Given the description of an element on the screen output the (x, y) to click on. 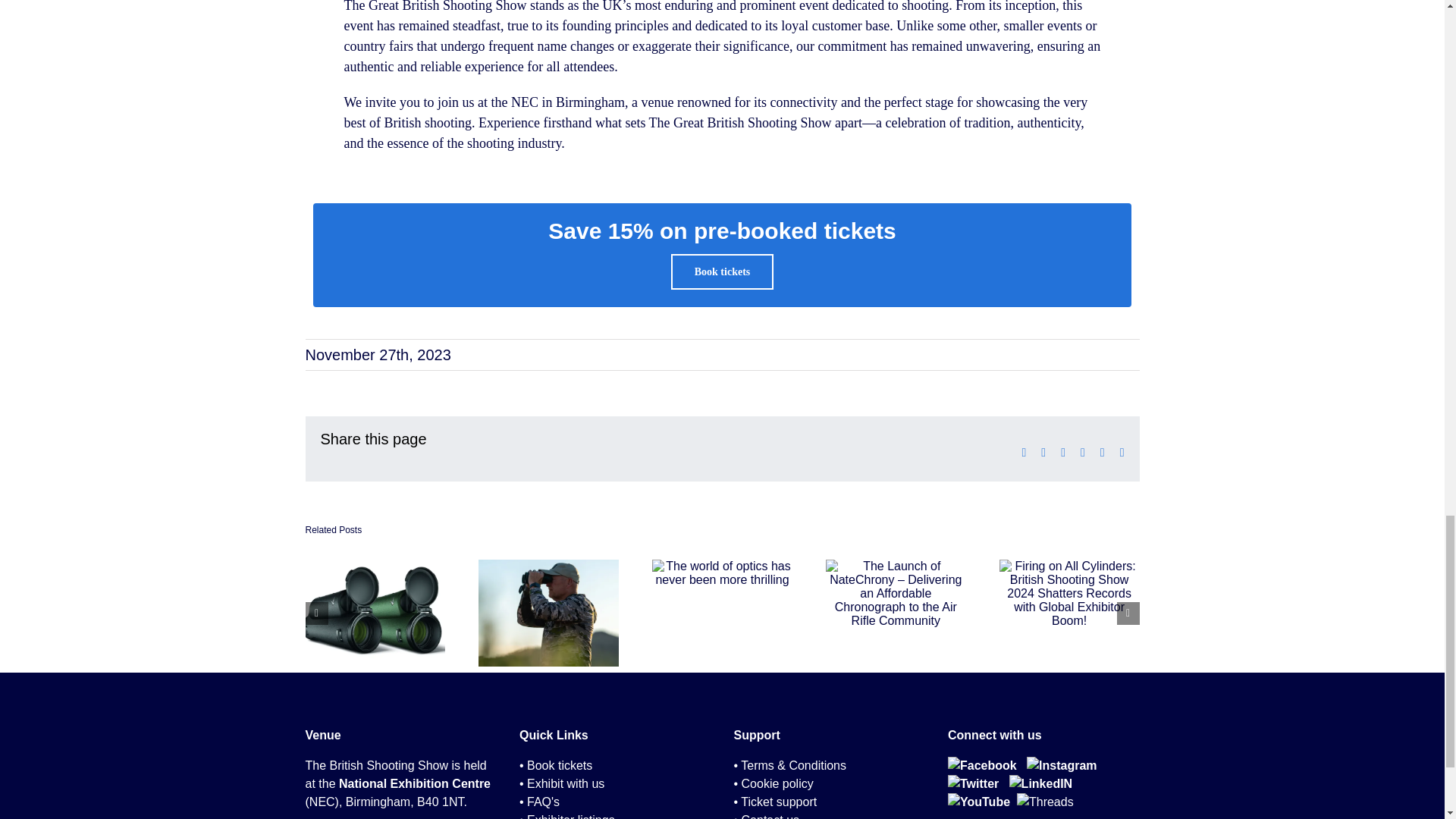
YouTube (978, 801)
Instagram (1061, 765)
LinkedIn (1041, 783)
Twitter (972, 783)
Facebook (981, 765)
Book tickets (722, 271)
